Given the description of an element on the screen output the (x, y) to click on. 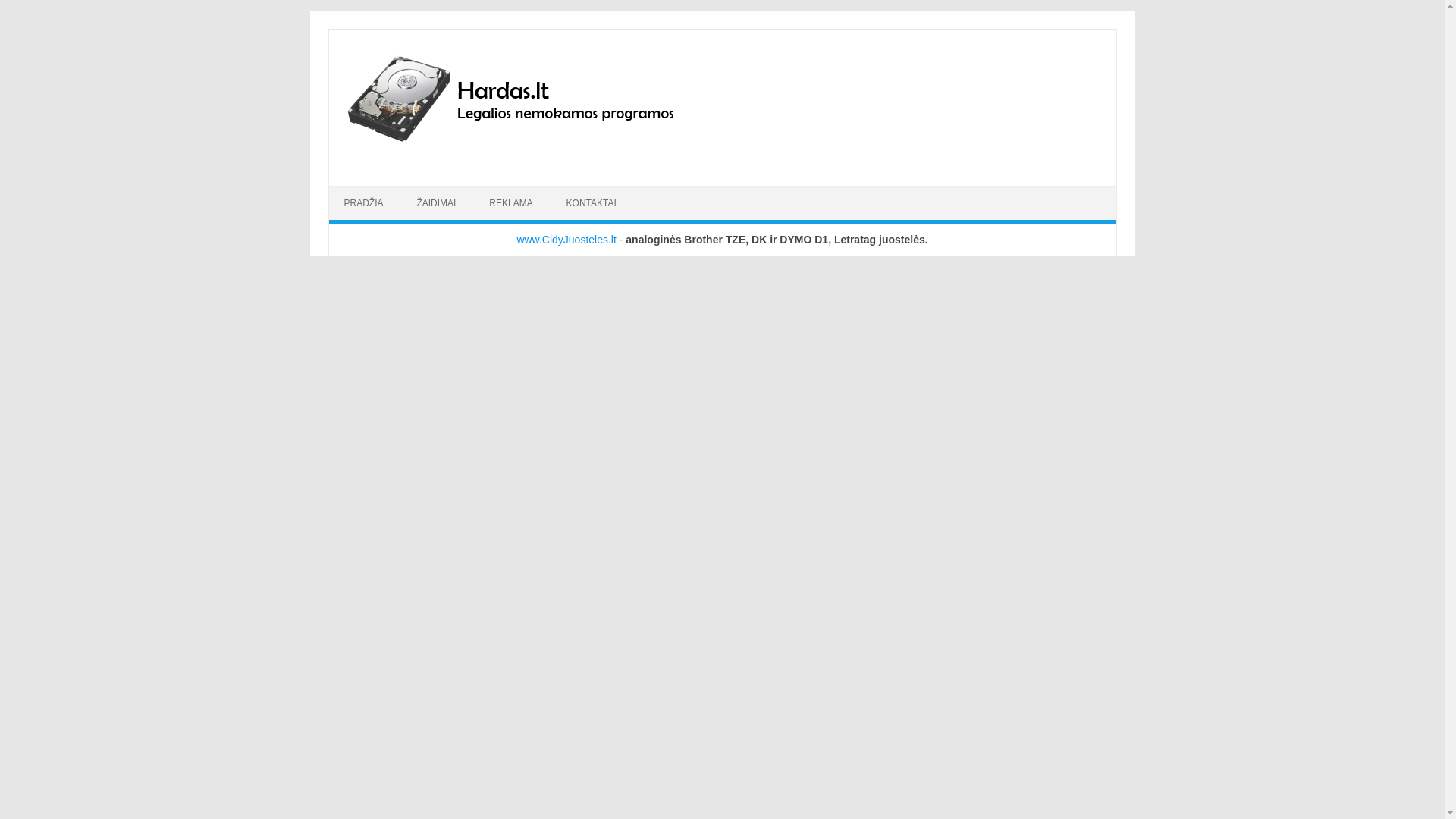
Pereiti prie turinio (370, 190)
Hardas.lt (530, 159)
Pereiti prie turinio (370, 190)
REKLAMA (510, 203)
KONTAKTAI (591, 203)
www.CidyJuosteles.lt (565, 239)
